Given the description of an element on the screen output the (x, y) to click on. 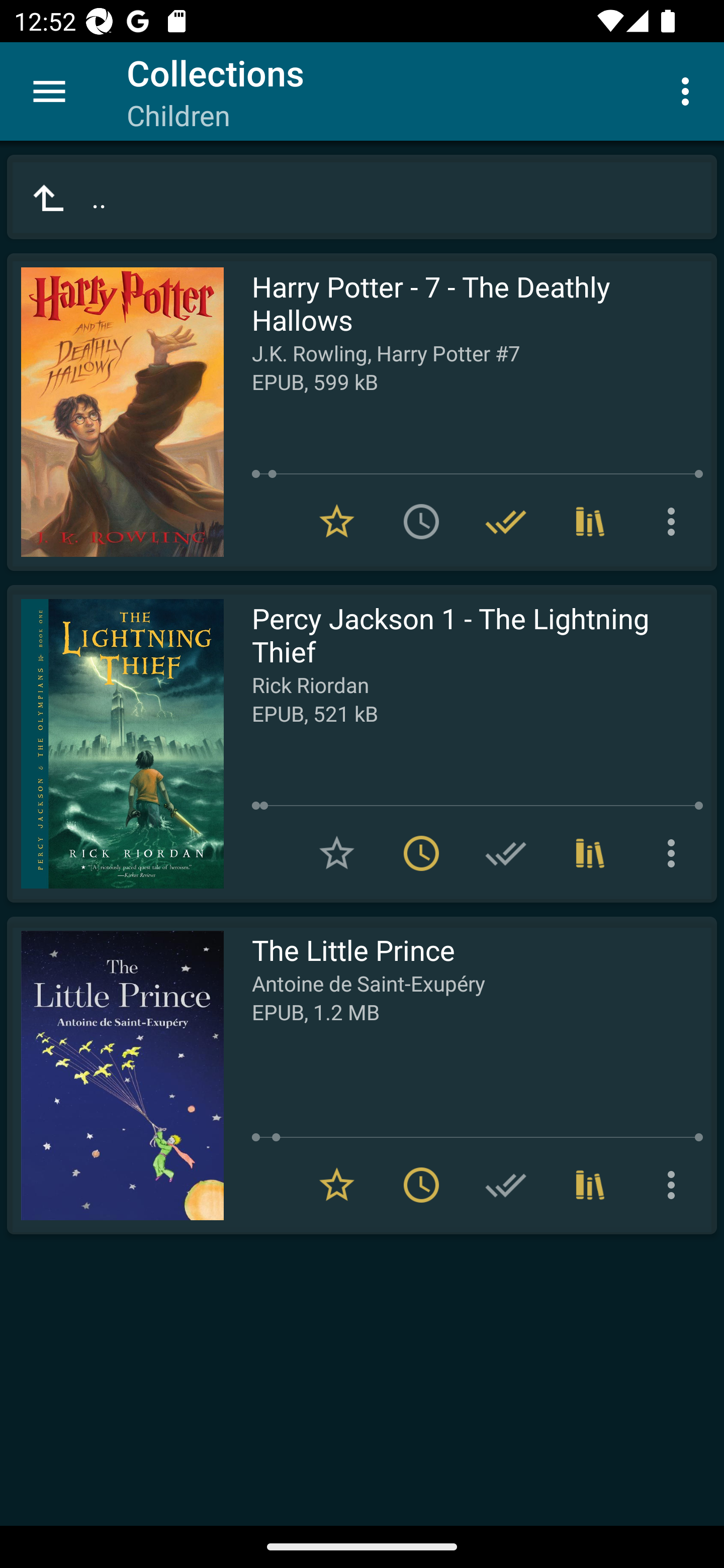
Menu (49, 91)
More options (688, 90)
.. (361, 197)
Read Harry Potter - 7 - The Deathly Hallows (115, 412)
Remove from Favorites (336, 521)
Add to To read (421, 521)
Remove from Have read (505, 521)
Collections (3) (590, 521)
More options (674, 521)
Read Percy Jackson 1 - The Lightning Thief (115, 743)
Add to Favorites (336, 852)
Remove from To read (421, 852)
Add to Have read (505, 852)
Collections (1) (590, 852)
More options (674, 852)
Read The Little Prince (115, 1075)
Remove from Favorites (336, 1185)
Remove from To read (421, 1185)
Add to Have read (505, 1185)
Collections (1) (590, 1185)
More options (674, 1185)
